Given the description of an element on the screen output the (x, y) to click on. 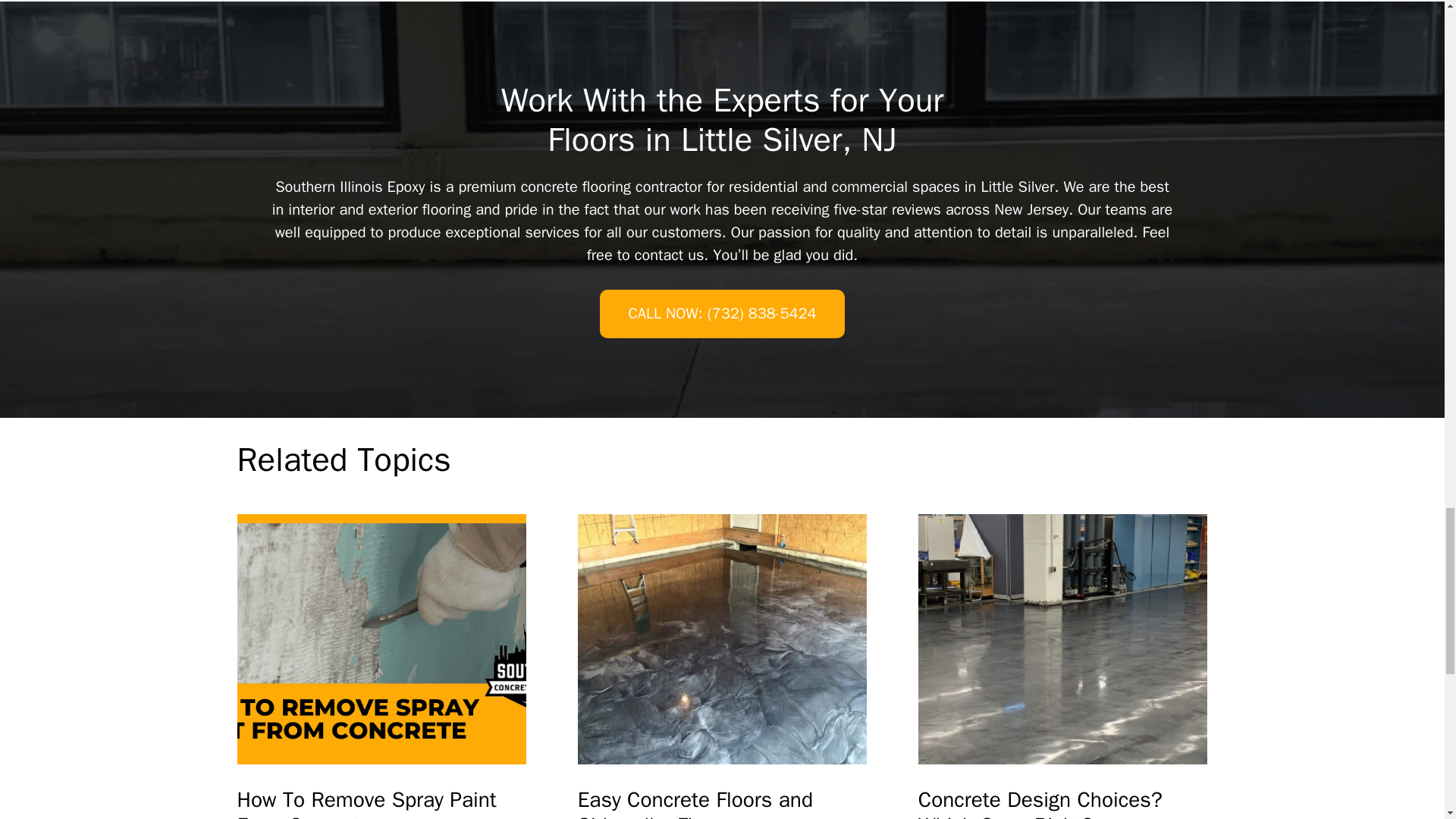
Concrete Design Choices? Which Ones Right? (1063, 639)
How To Remove Spray Paint From Concrete (380, 803)
How To Remove Spray Paint From Concrete (380, 639)
Easy Concrete Floors and Sidewalks Fix (722, 639)
Easy Concrete Floors and Sidewalks Fix (722, 803)
